Given the description of an element on the screen output the (x, y) to click on. 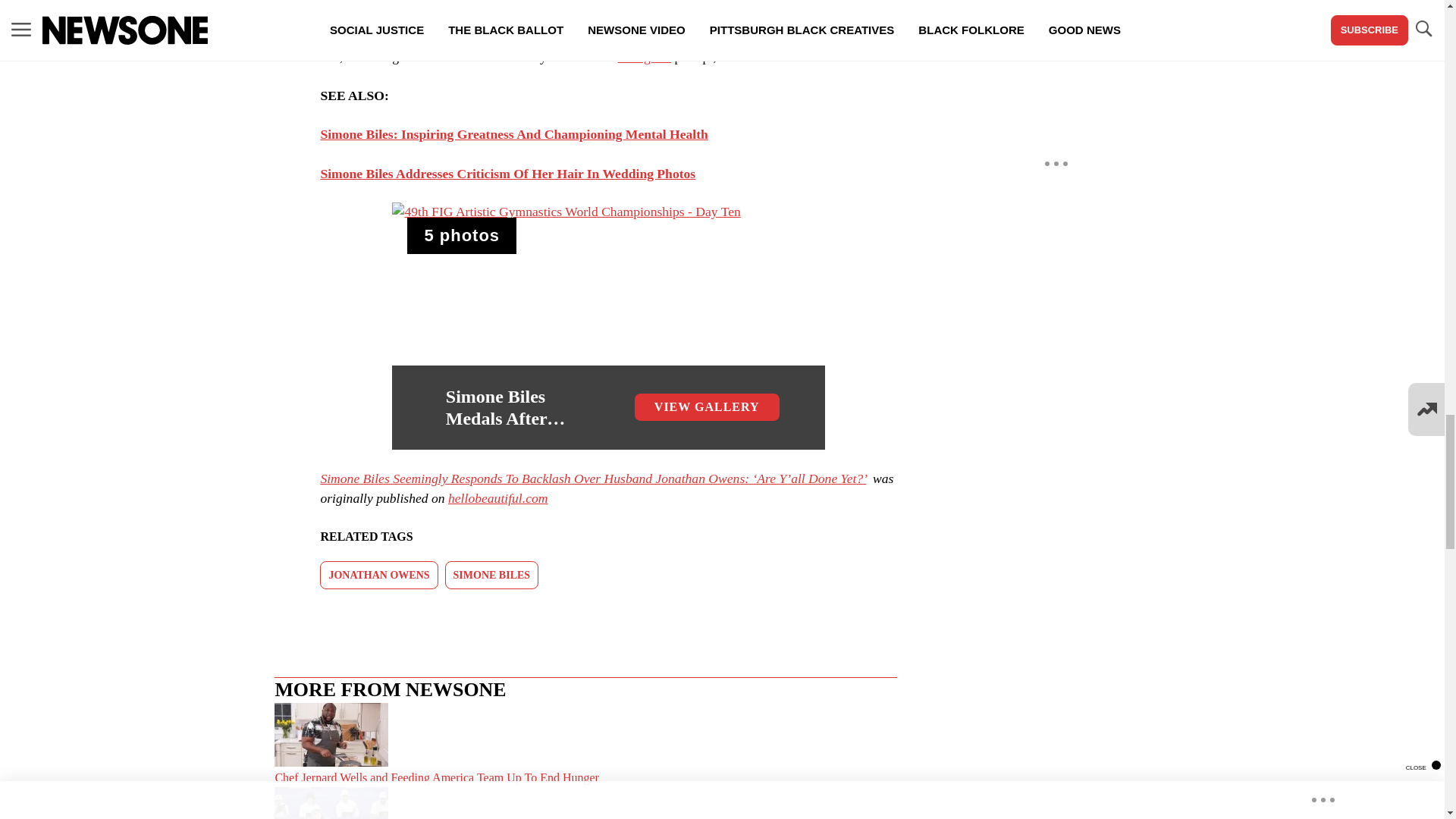
Media Playlist (461, 235)
JONATHAN OWENS (379, 574)
Chef Jernard Wells and Feeding America Team Up To End Hunger (585, 744)
hellobeautiful.com (497, 498)
Instagram (644, 56)
SIMONE BILES (491, 574)
